Given the description of an element on the screen output the (x, y) to click on. 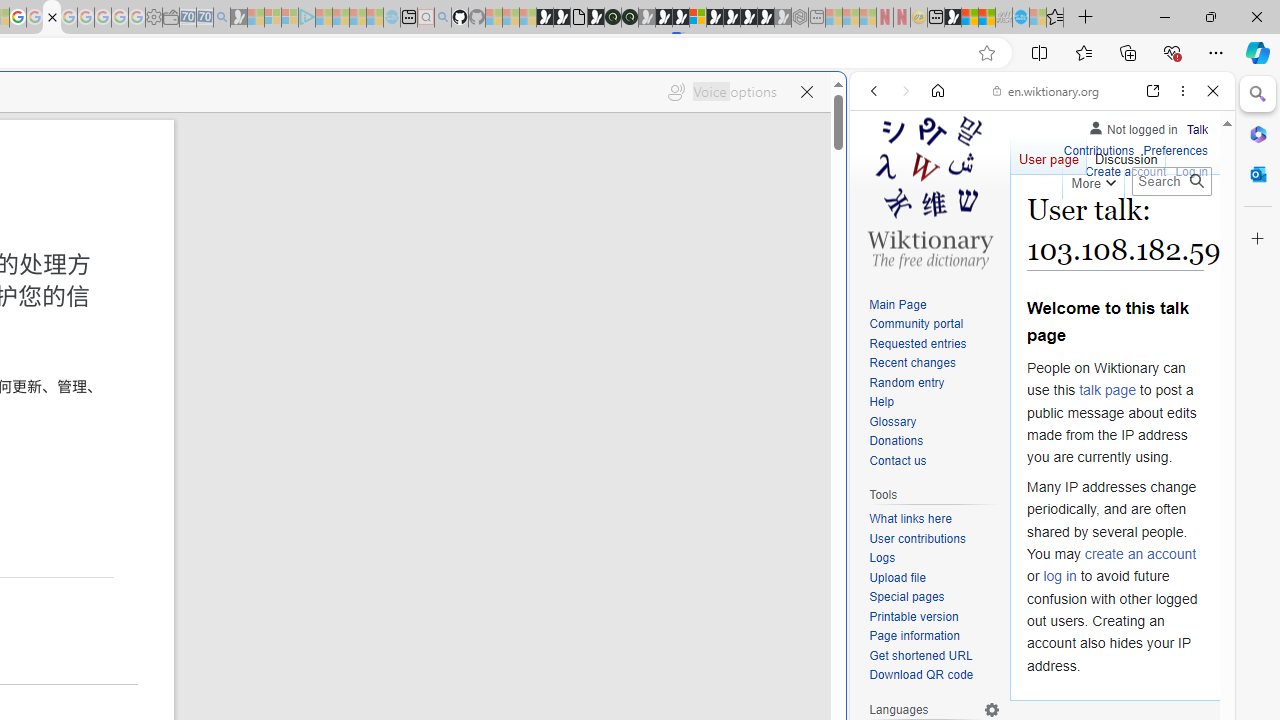
Search or enter web address (343, 191)
Play Cave FRVR in your browser | Games from Microsoft Start (343, 426)
Community portal (916, 323)
Contact us (934, 461)
